Given the description of an element on the screen output the (x, y) to click on. 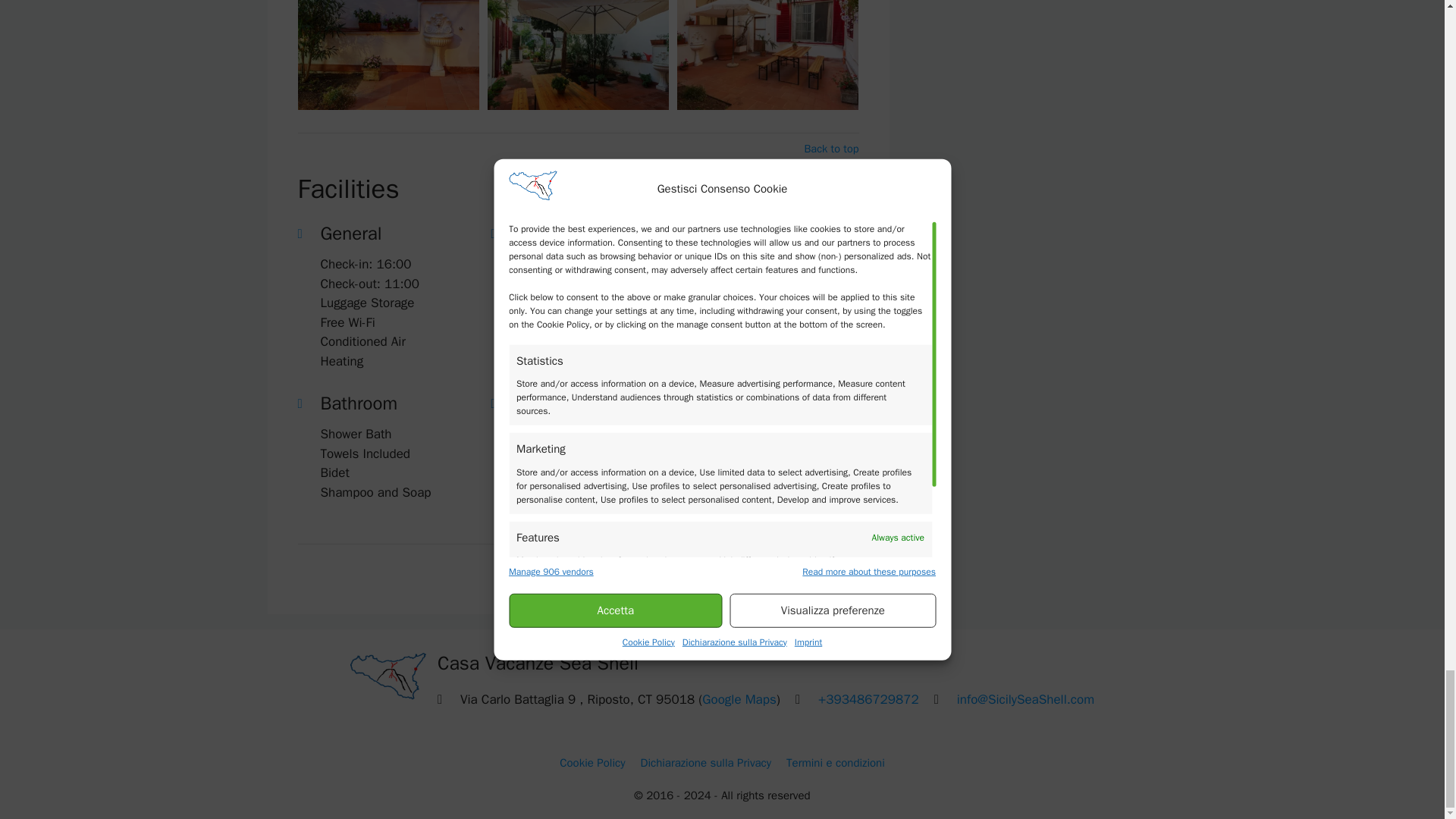
Back to top (831, 149)
Back to top (831, 560)
